Given the description of an element on the screen output the (x, y) to click on. 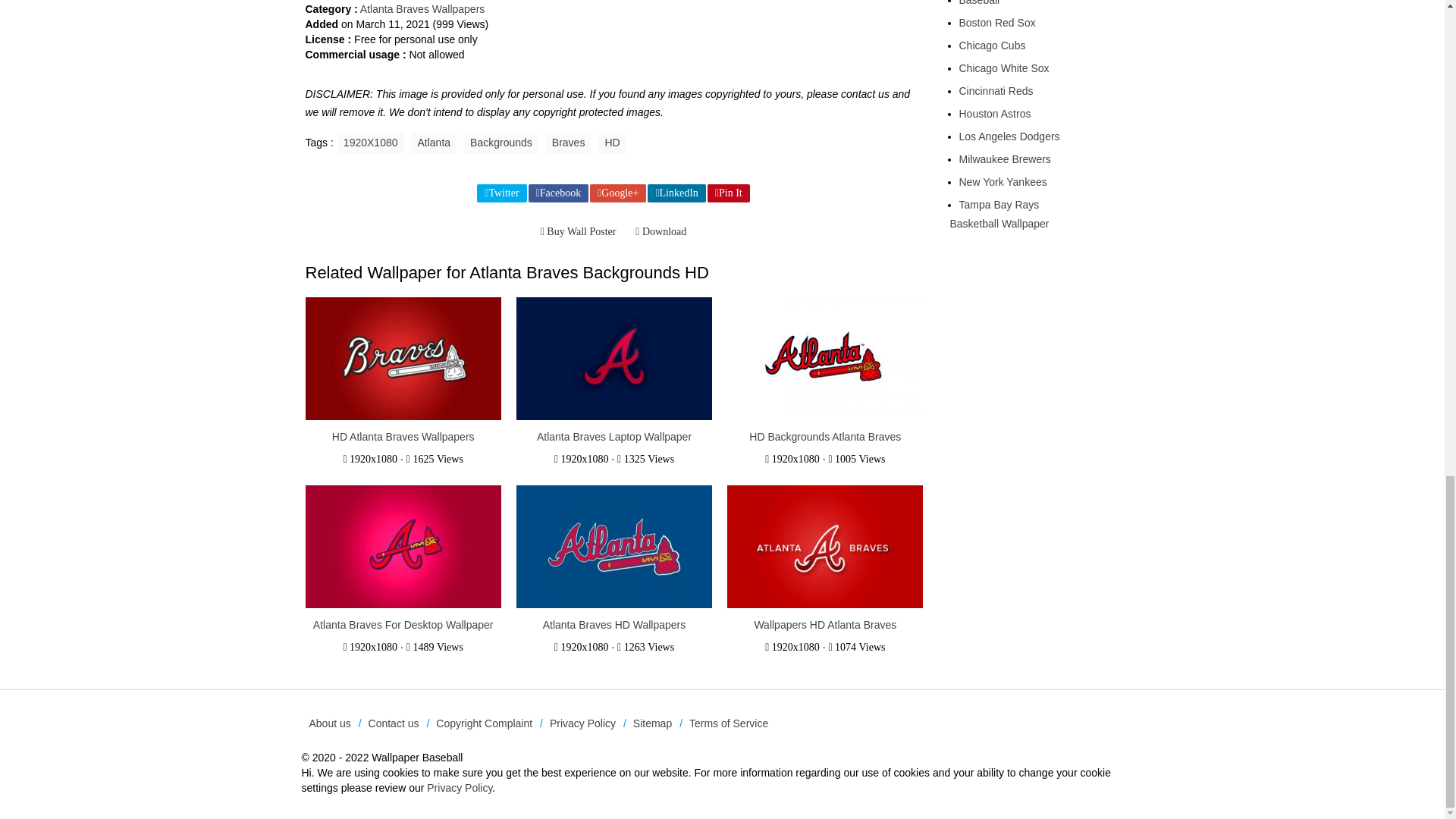
Facebook (558, 193)
Atlanta Braves Laptop Wallpaper (613, 358)
Atlanta Braves For Desktop Wallpaper (403, 624)
Braves (568, 142)
Wallpapers HD Atlanta Braves (825, 624)
HD (612, 142)
Atlanta Braves Laptop Wallpaper (614, 436)
Twitter (501, 193)
LinkedIn (675, 193)
Pin It (728, 193)
Atlanta (433, 142)
Backgrounds (501, 142)
HD Backgrounds Atlanta Braves (825, 436)
Buy Wall Poster (578, 231)
HD Atlanta Braves Wallpapers (402, 358)
